Given the description of an element on the screen output the (x, y) to click on. 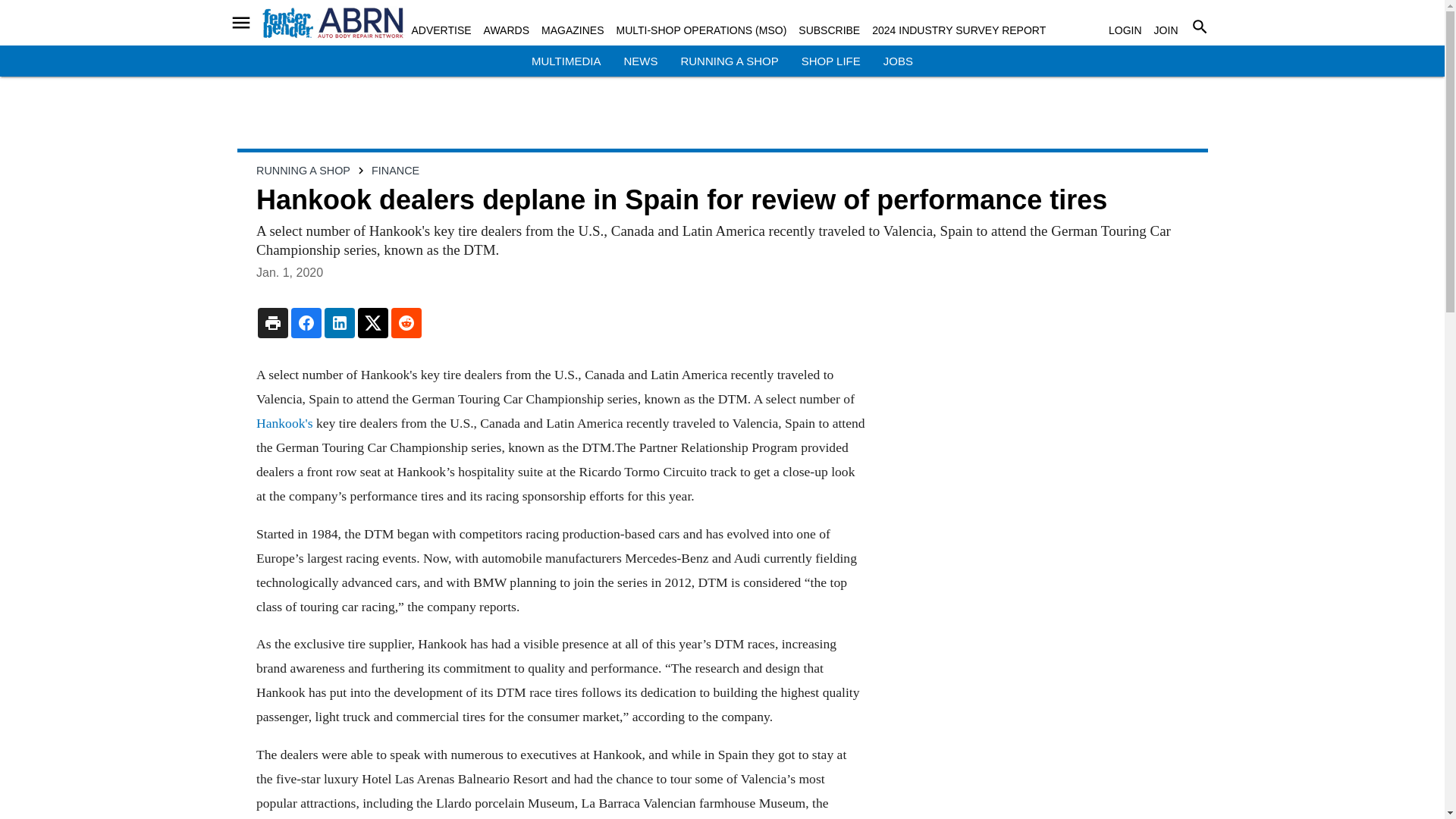
NEWS (640, 60)
MAGAZINES (572, 30)
AWARDS (506, 30)
MULTIMEDIA (565, 60)
ADVERTISE (440, 30)
2024 INDUSTRY SURVEY REPORT (958, 30)
SUBSCRIBE (828, 30)
JOBS (897, 60)
RUNNING A SHOP (728, 60)
JOIN (1165, 30)
